Given the description of an element on the screen output the (x, y) to click on. 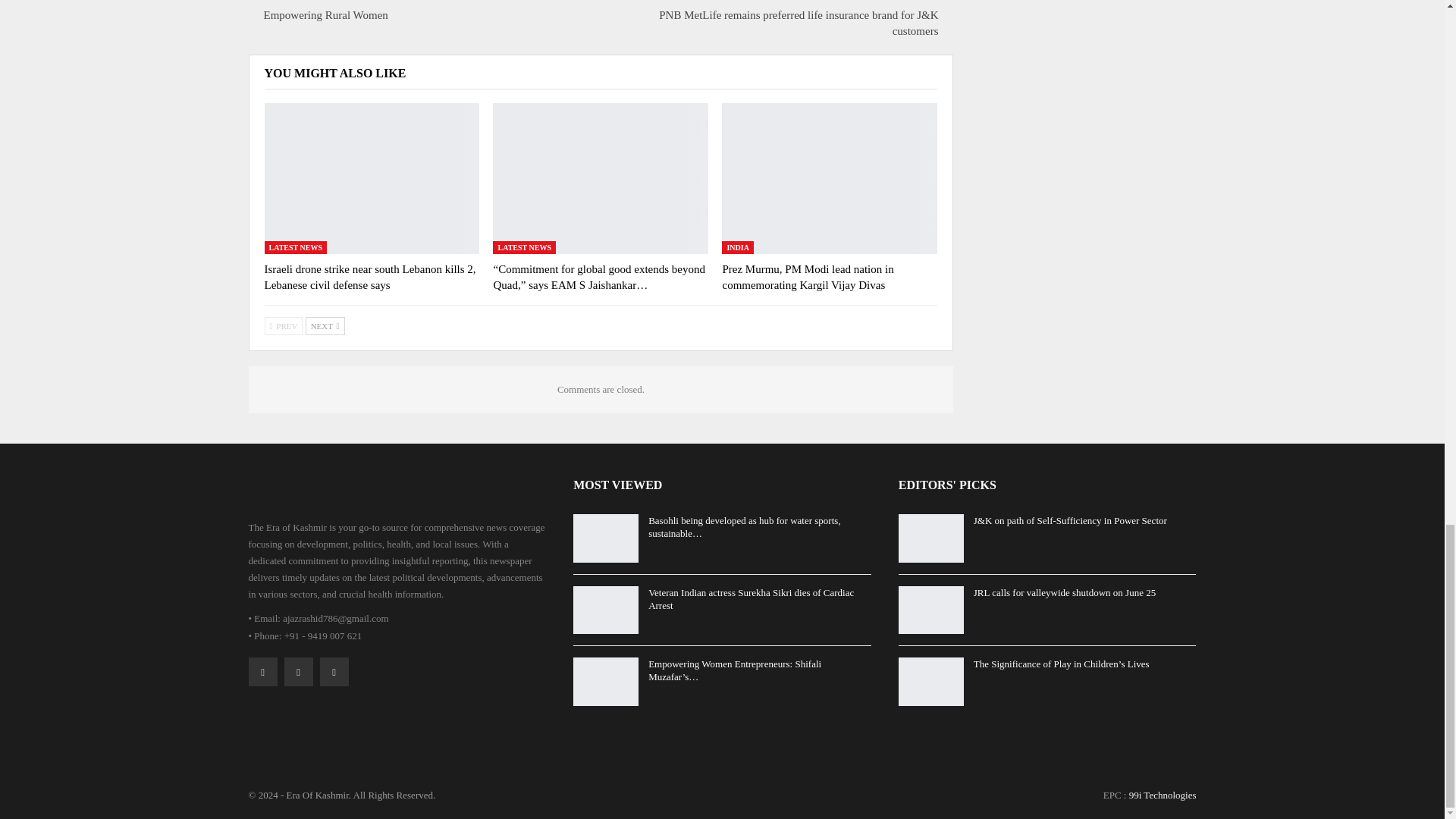
Previous (282, 325)
Next (325, 325)
